Given the description of an element on the screen output the (x, y) to click on. 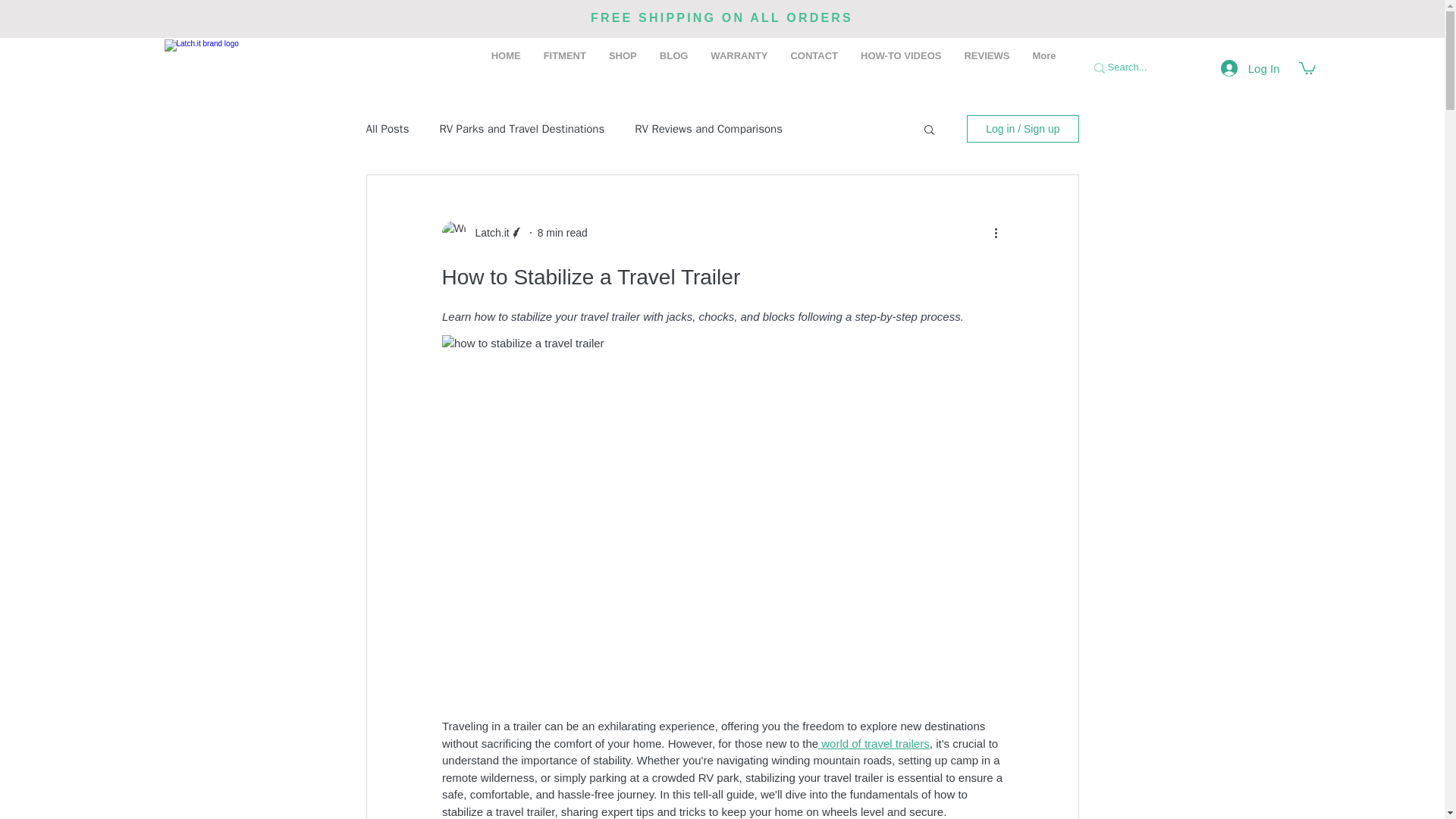
All Posts (387, 129)
Log In (1249, 68)
BLOG (673, 67)
8 min read (562, 232)
Latch.it (486, 232)
HOME (506, 67)
WARRANTY (738, 67)
RV Reviews and Comparisons (708, 129)
RV Parks and Travel Destinations (521, 129)
CONTACT (813, 67)
FITMENT (564, 67)
